Given the description of an element on the screen output the (x, y) to click on. 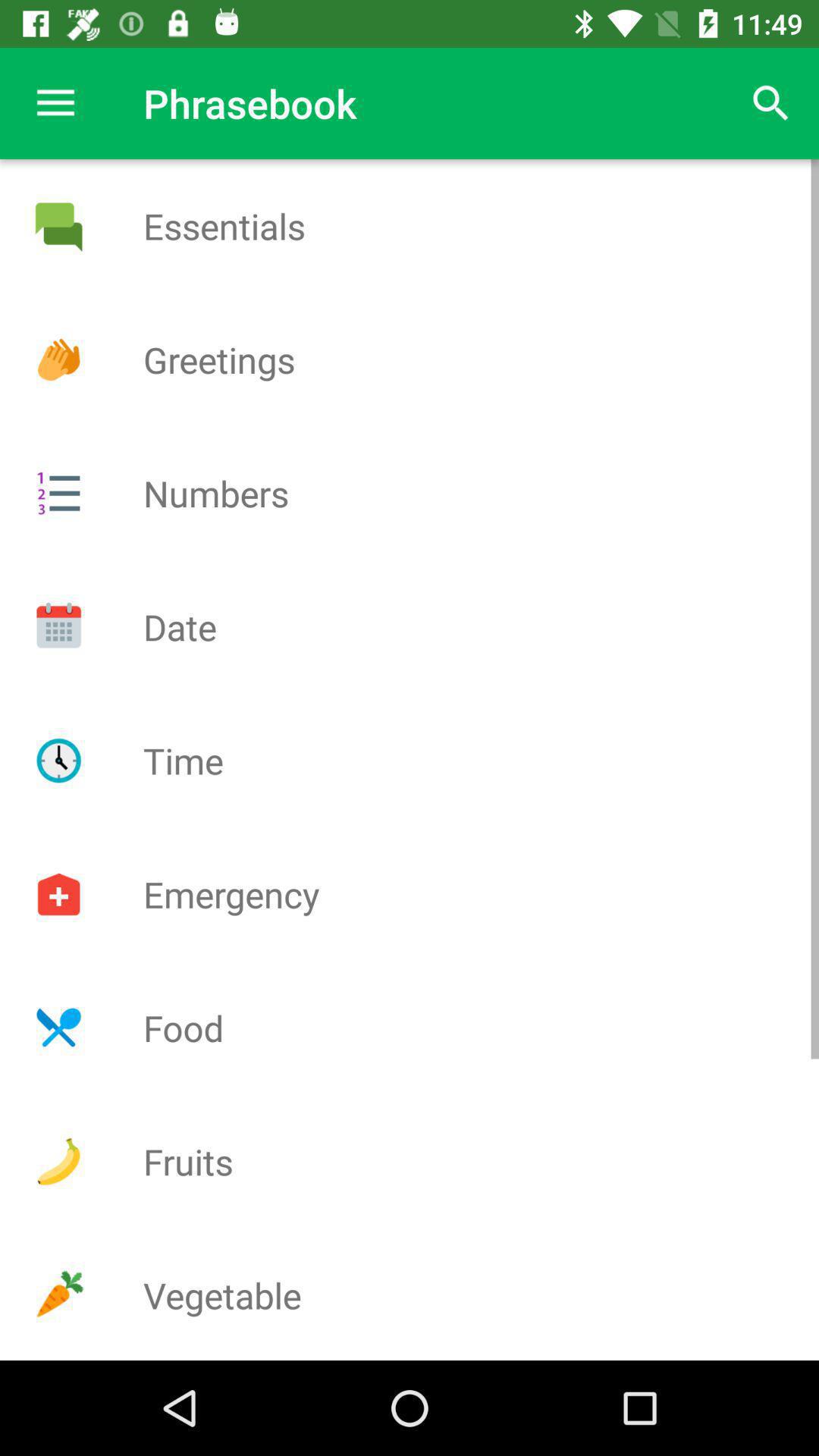
greeting page (58, 359)
